Given the description of an element on the screen output the (x, y) to click on. 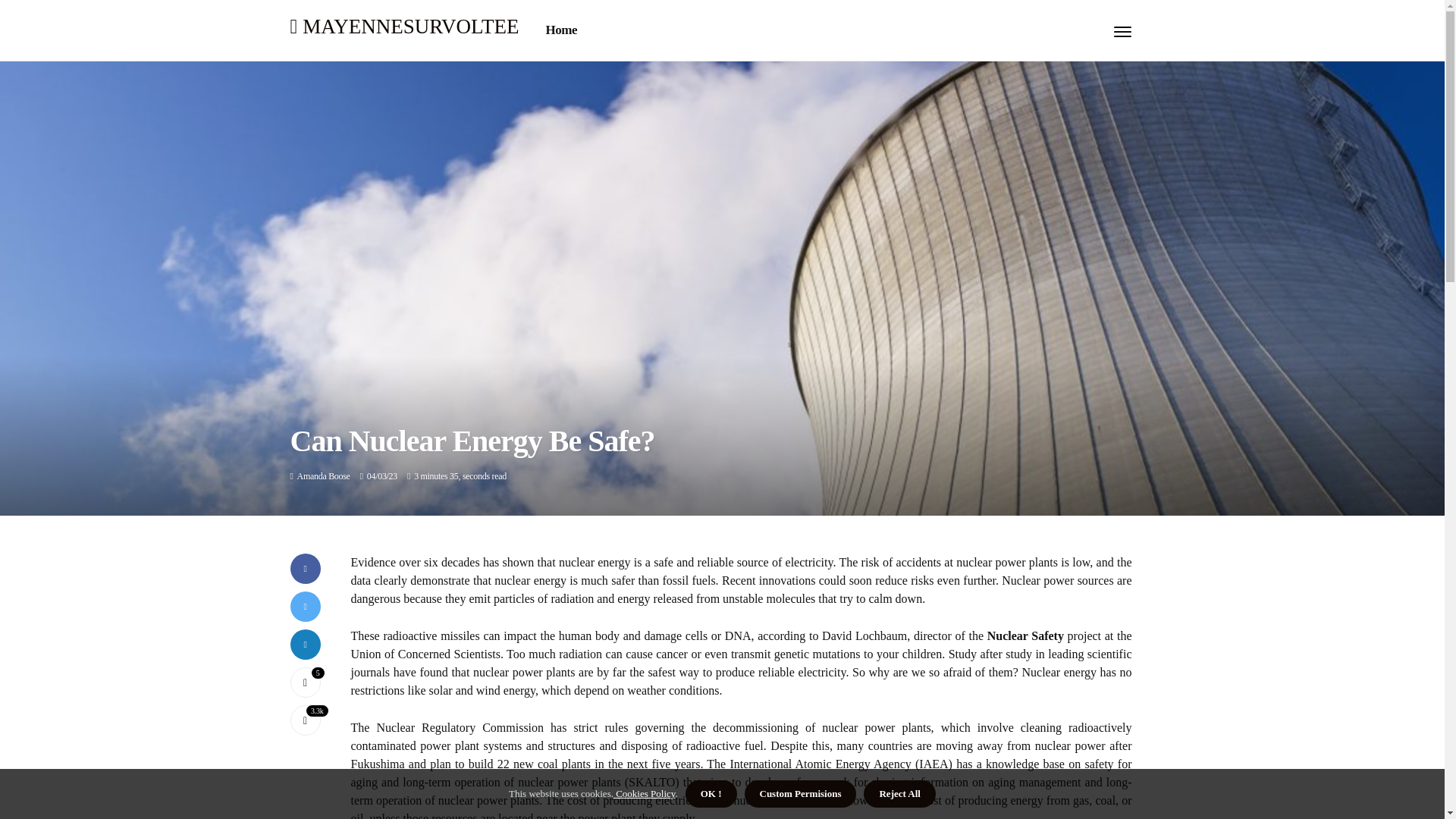
MAYENNESURVOLTEE (403, 26)
Posts by Amanda Boose (323, 475)
5 (304, 682)
Amanda Boose (323, 475)
Like (304, 682)
